Given the description of an element on the screen output the (x, y) to click on. 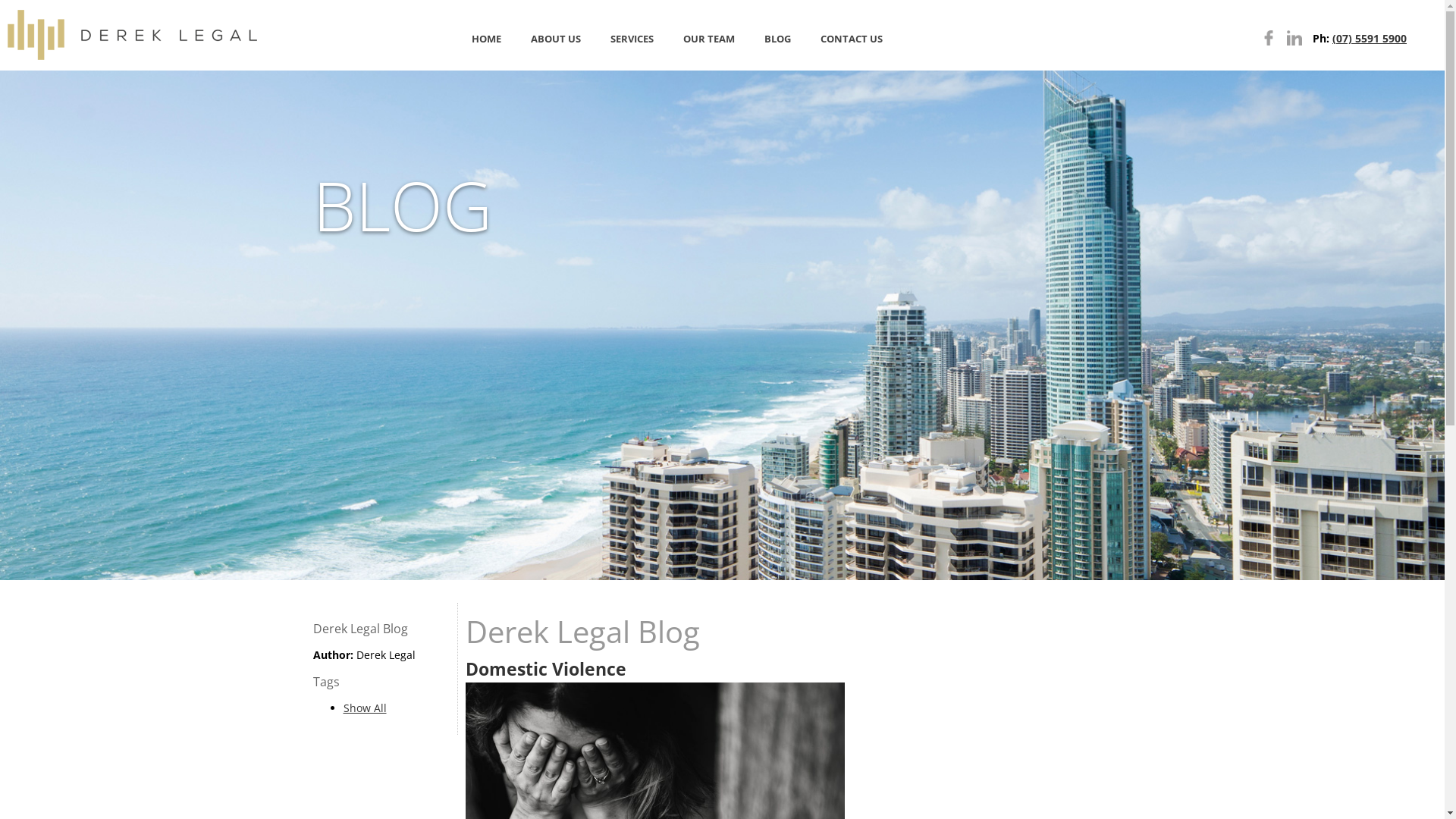
Show All Element type: text (363, 707)
OUR TEAM Element type: text (708, 35)
CONTACT US Element type: text (851, 35)
HOME Element type: text (485, 35)
Domestic Violence Element type: text (545, 668)
SERVICES Element type: text (632, 35)
BLOG Element type: text (777, 35)
(07) 5591 5900 Element type: text (1369, 38)
ABOUT US Element type: text (555, 35)
